Given the description of an element on the screen output the (x, y) to click on. 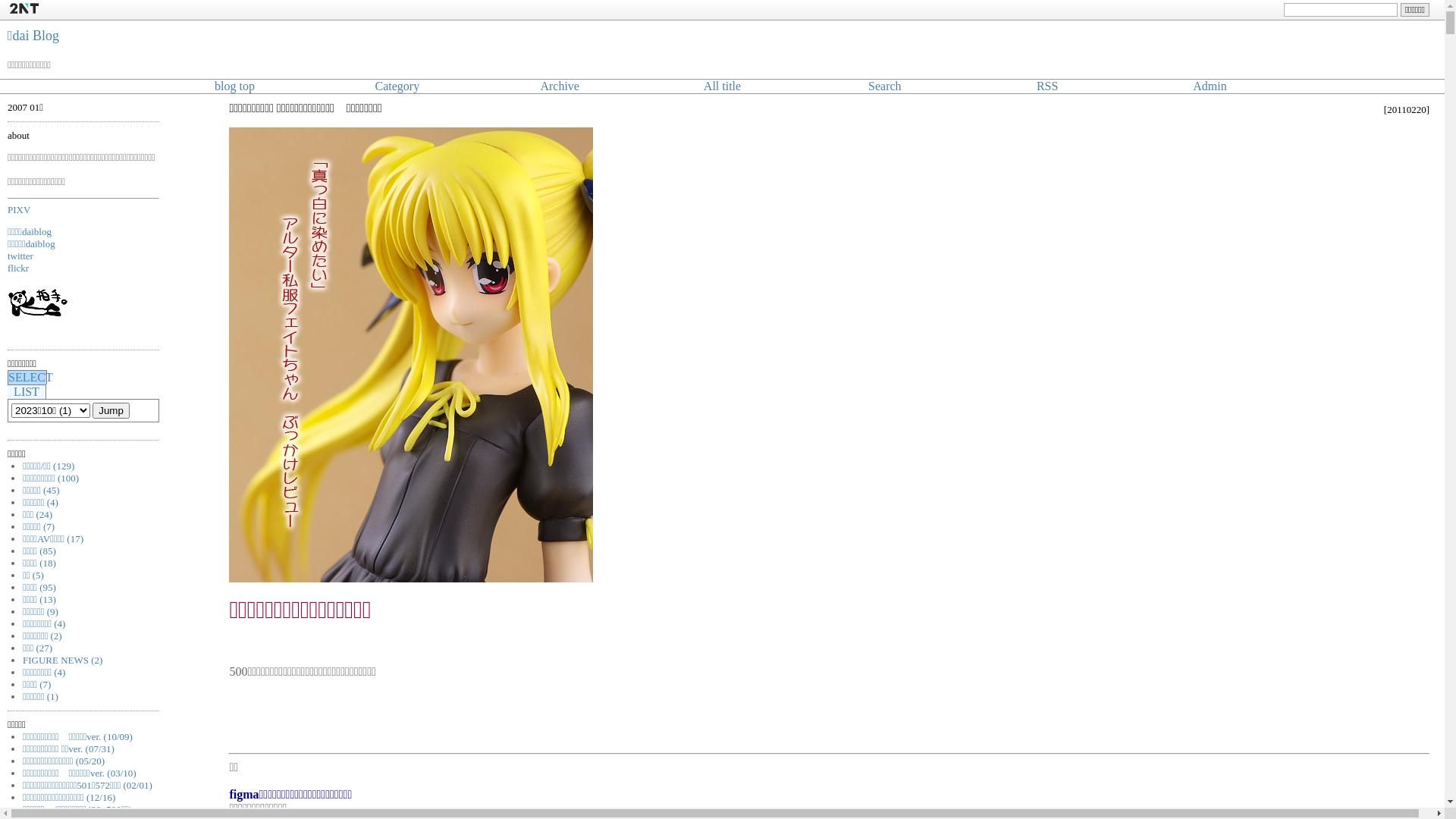
SELECT Element type: text (30, 376)
Archive Element type: text (559, 85)
flickr Element type: text (17, 267)
Admin Element type: text (1209, 85)
Category Element type: text (397, 85)
PIXV Element type: text (18, 208)
Search Element type: text (884, 85)
twitter Element type: text (20, 255)
blog top Element type: text (234, 85)
FIGURE NEWS (2) Element type: text (62, 659)
All title Element type: text (721, 85)
Jump Element type: text (110, 410)
LIST Element type: text (26, 391)
RSS Element type: text (1046, 85)
